Given the description of an element on the screen output the (x, y) to click on. 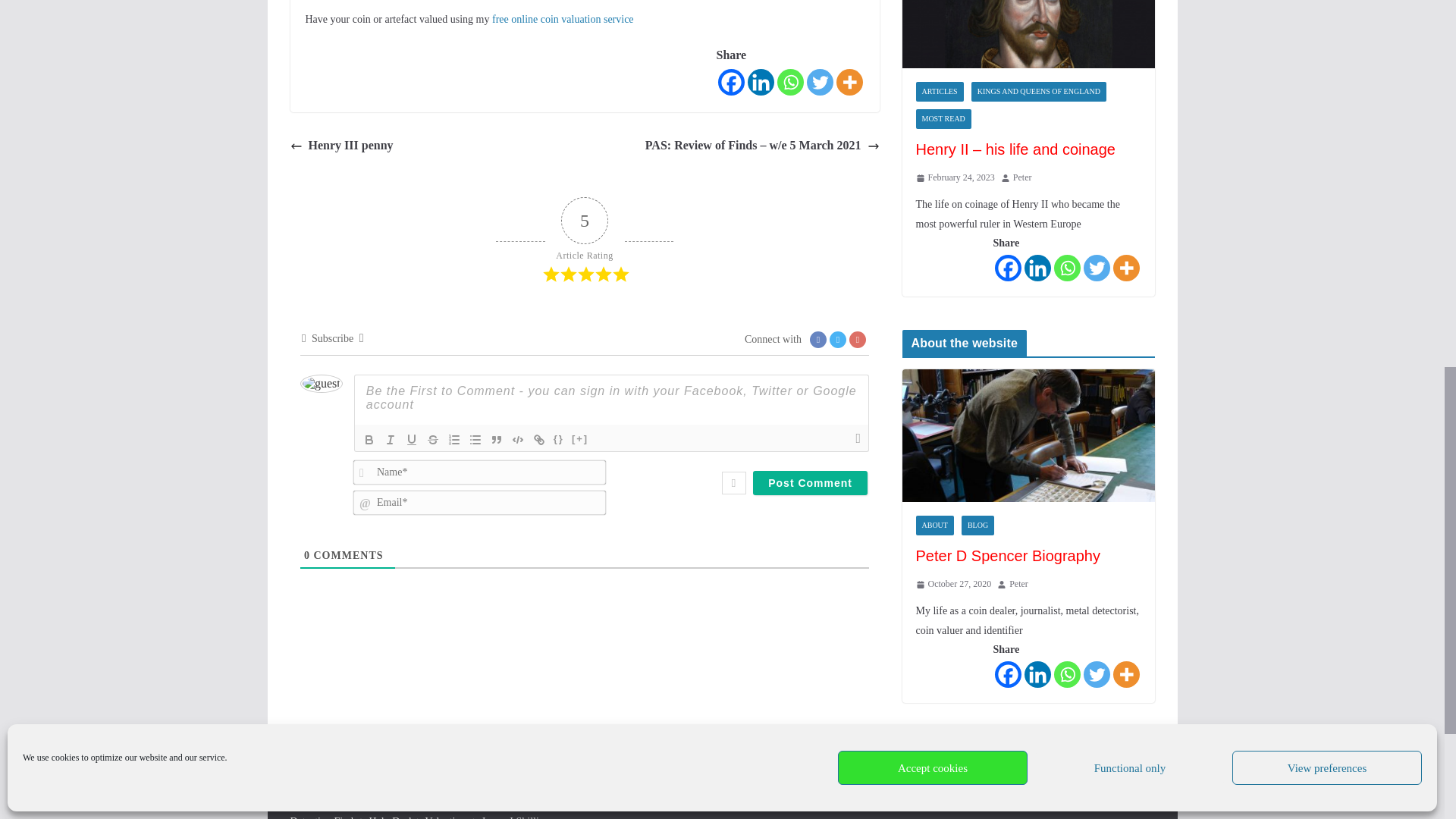
Code Block (517, 439)
Strike (433, 439)
Linkedin (761, 81)
Whatsapp (789, 81)
Underline (411, 439)
Unordered List (475, 439)
Bold (369, 439)
Post Comment (809, 482)
Italic (390, 439)
Twitter (819, 81)
